Given the description of an element on the screen output the (x, y) to click on. 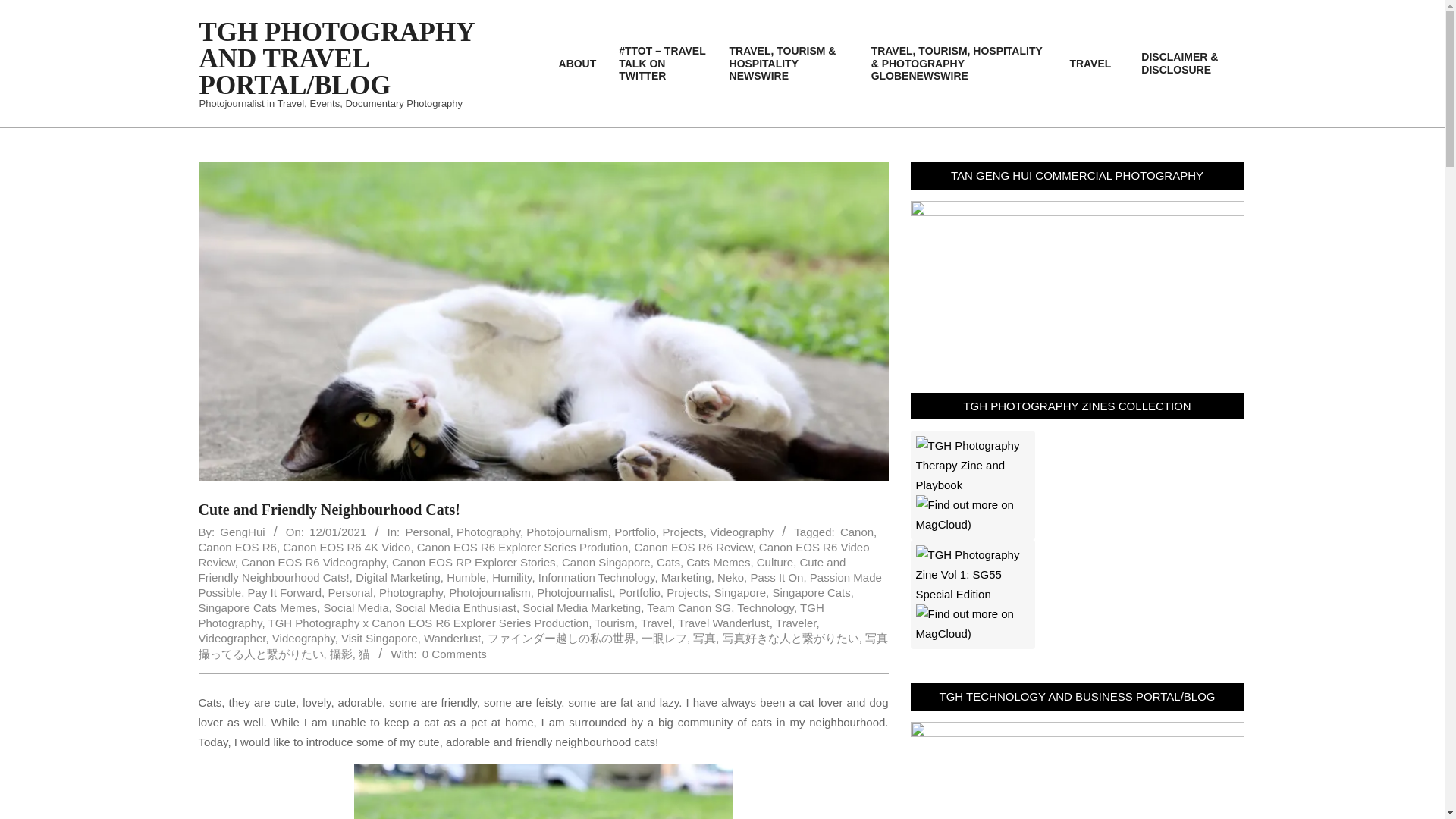
Canon EOS RP Explorer Stories (473, 562)
Canon EOS R6 Explorer Series Prodution (521, 546)
Marketing (686, 576)
Cute and Friendly Neighbourhood Cats! (521, 569)
Passion Made Possible (540, 584)
Canon (856, 531)
Canon EOS R6 Video Review (533, 554)
Cats (667, 562)
Humble (466, 576)
Posts by GengHui (241, 531)
